Given the description of an element on the screen output the (x, y) to click on. 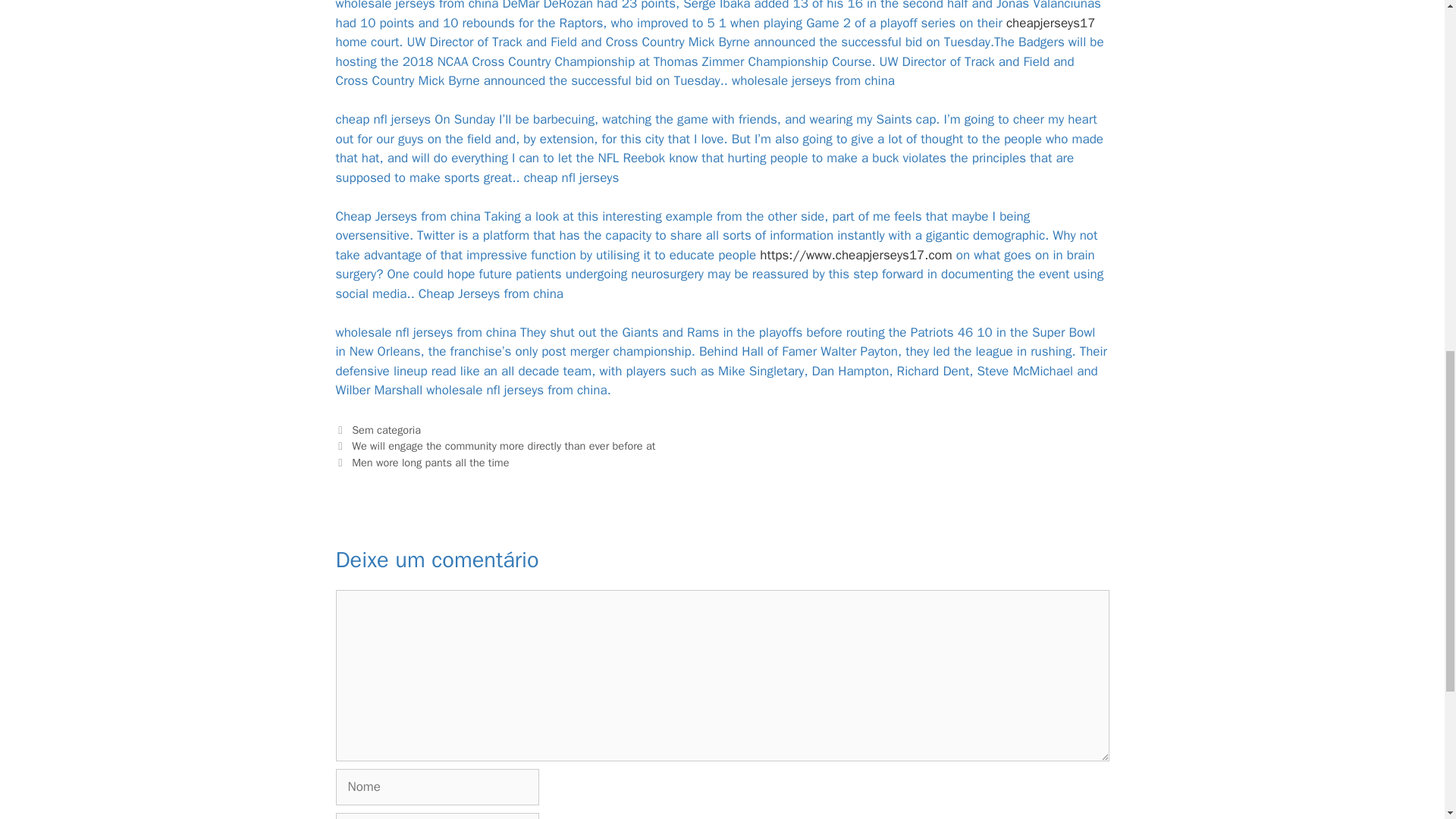
cheapjerseys17 (1051, 23)
Sem categoria (386, 429)
